Given the description of an element on the screen output the (x, y) to click on. 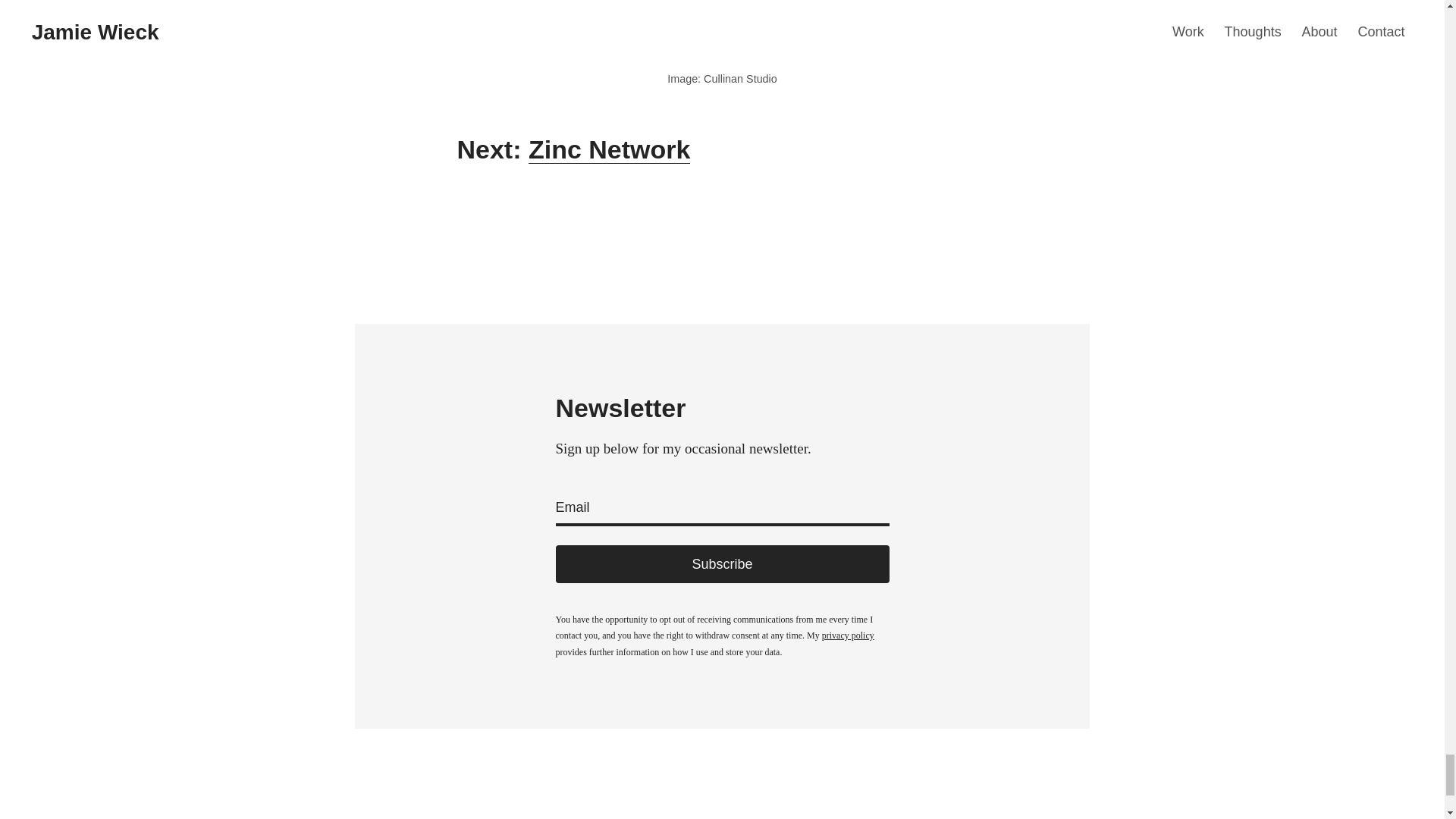
Subscribe (721, 564)
privacy policy (848, 634)
Zinc Network (609, 149)
Subscribe (721, 564)
